Given the description of an element on the screen output the (x, y) to click on. 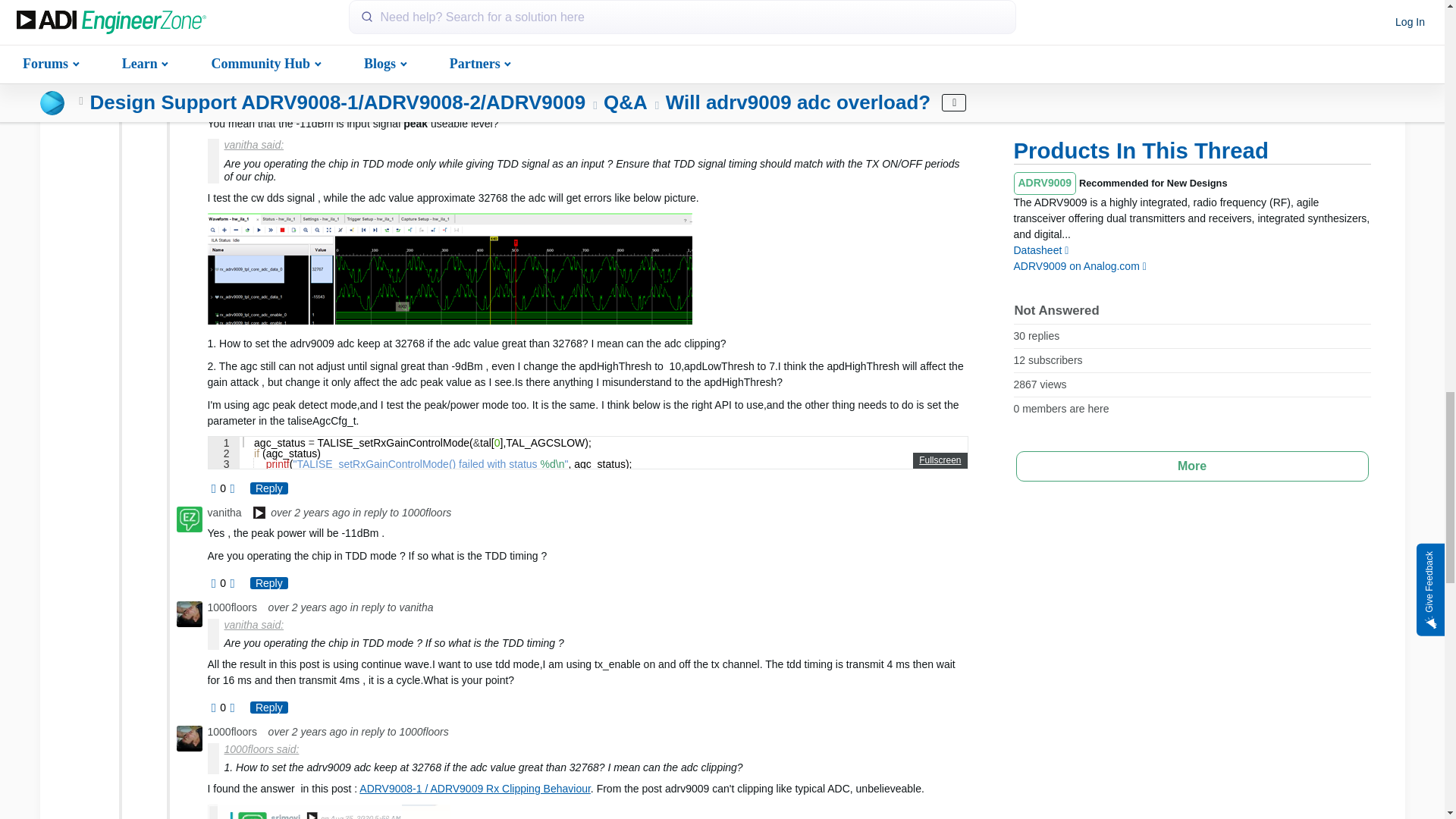
Analog Employees (258, 513)
